Given the description of an element on the screen output the (x, y) to click on. 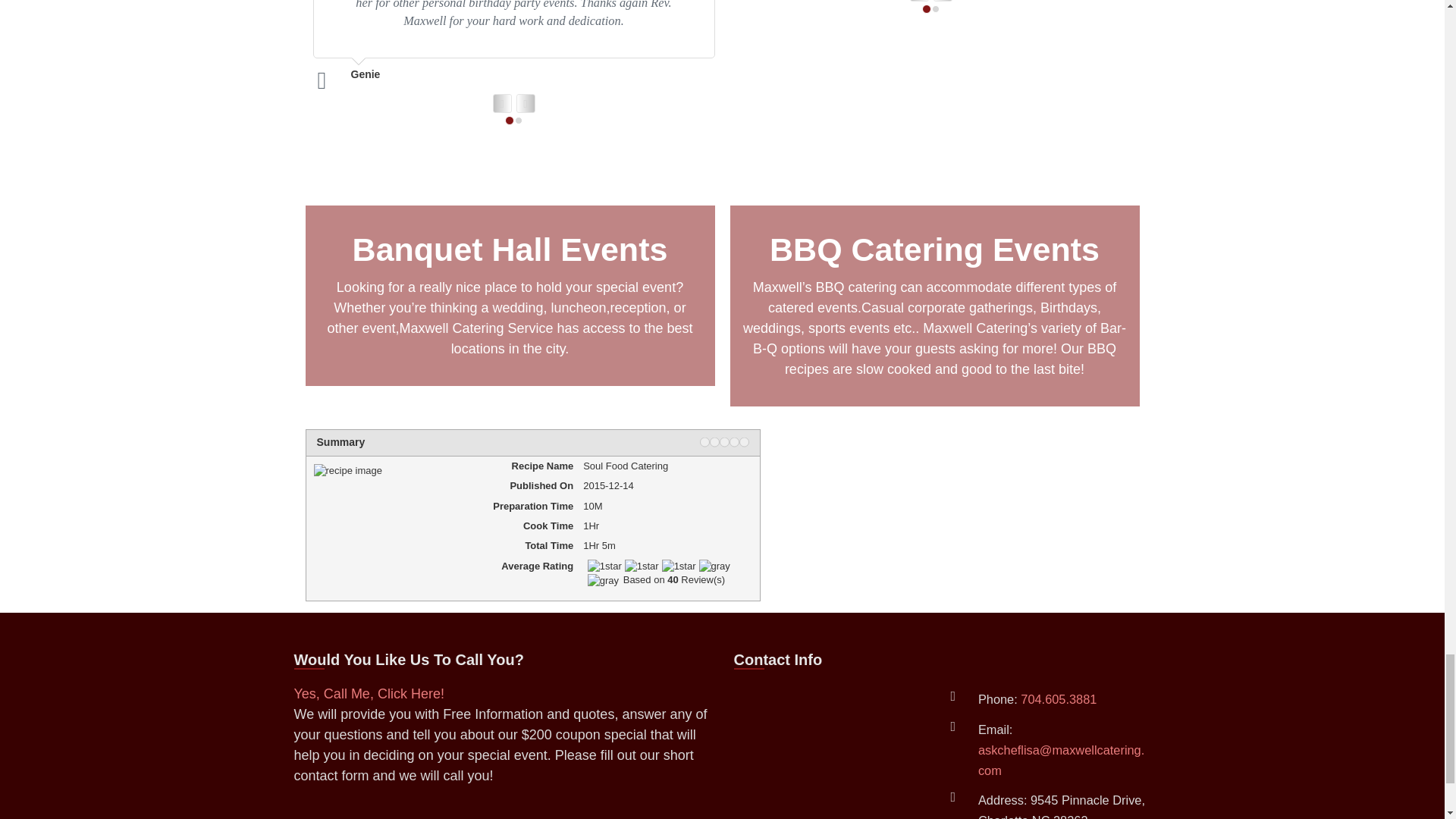
3 (724, 442)
1 (703, 442)
704.605.3881 (1058, 698)
2 (714, 442)
5 (743, 442)
4 (734, 442)
Yes, Call Me, Click Here! (369, 693)
